Given the description of an element on the screen output the (x, y) to click on. 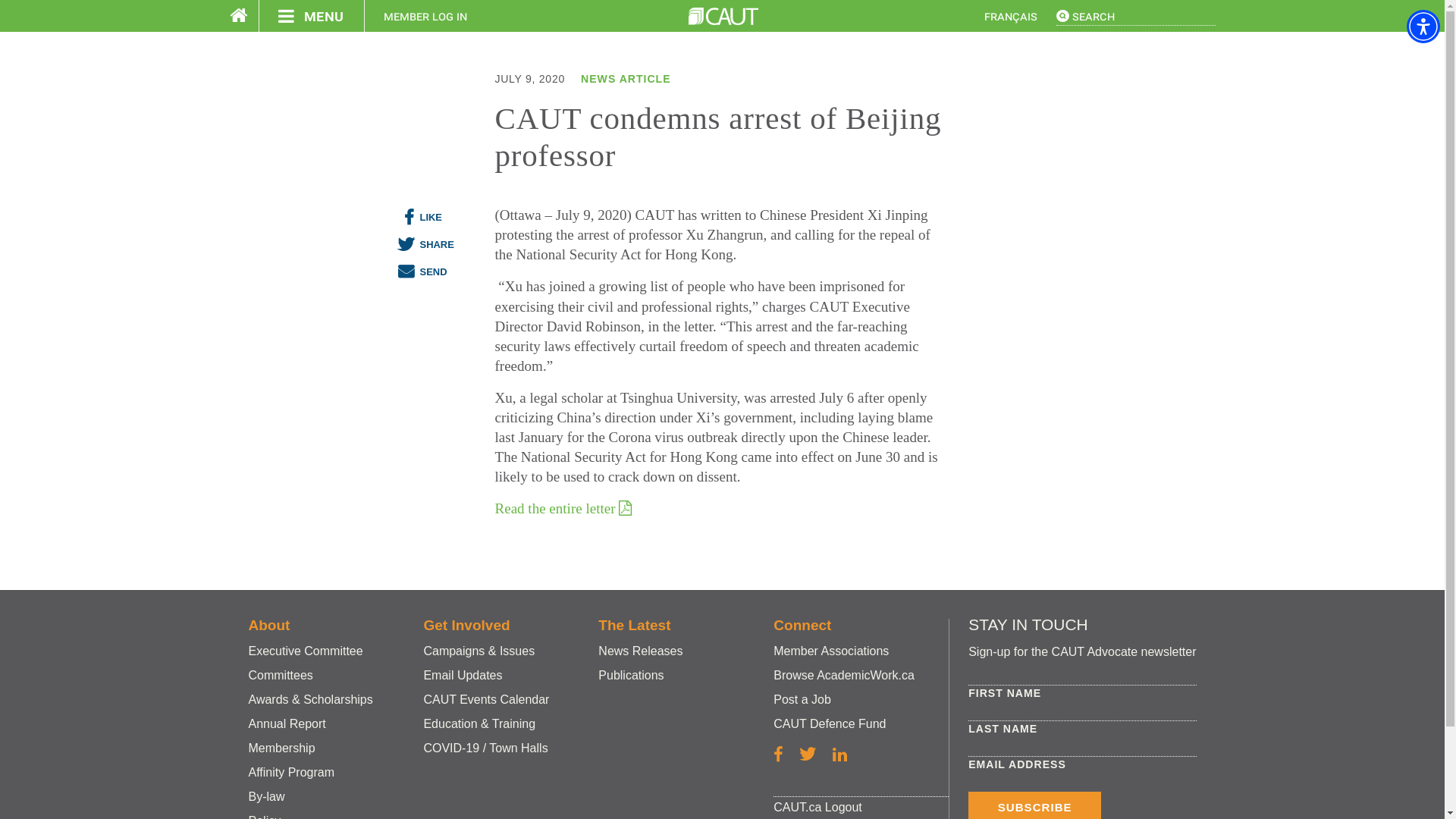
Home (723, 15)
menu (310, 15)
Accessibility Menu (1422, 26)
member log in (425, 15)
Subscribe (1034, 805)
